Given the description of an element on the screen output the (x, y) to click on. 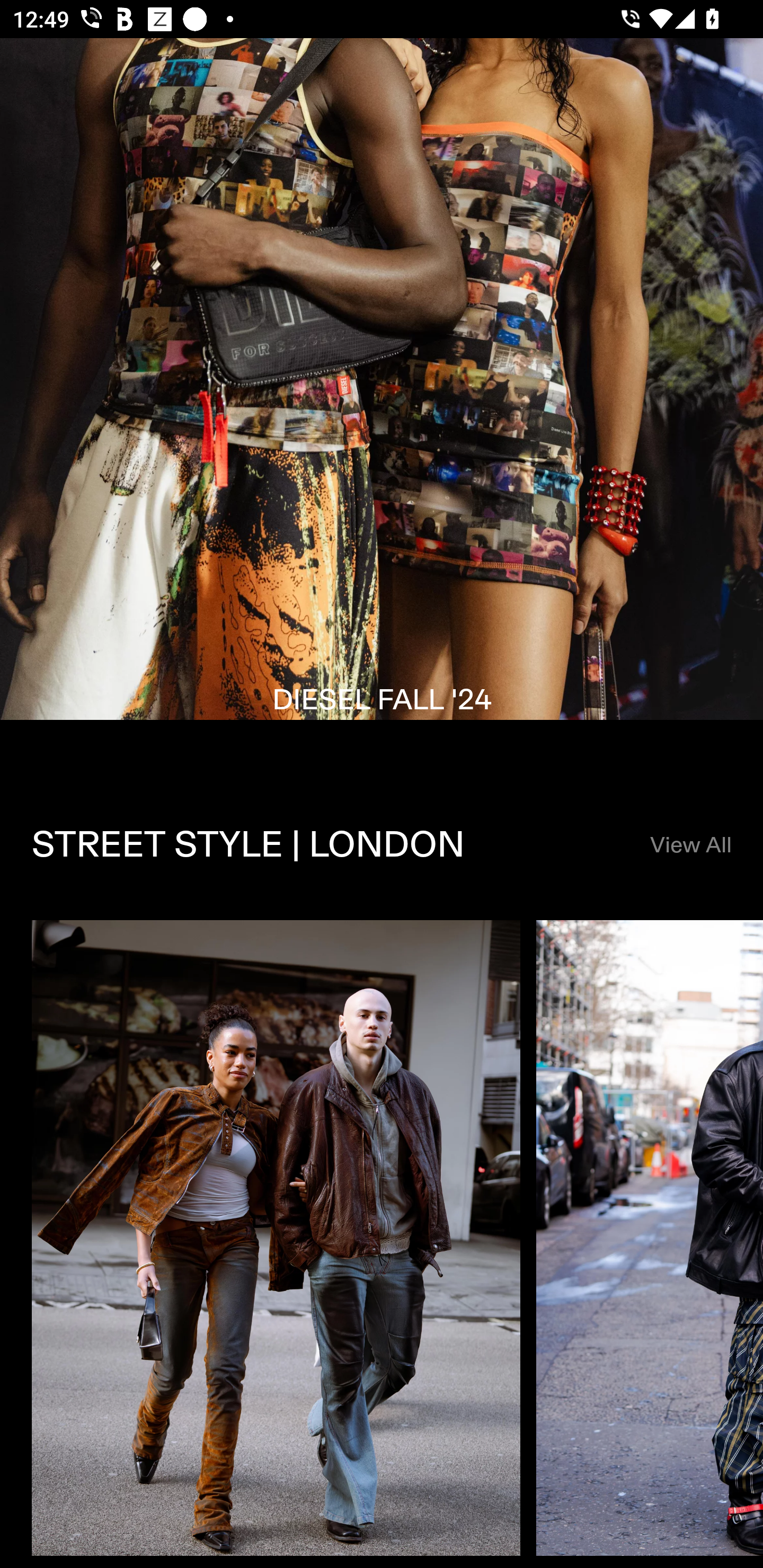
FIRST LOOKS DIESEL FALL '24 (381, 404)
View All (690, 845)
